Given the description of an element on the screen output the (x, y) to click on. 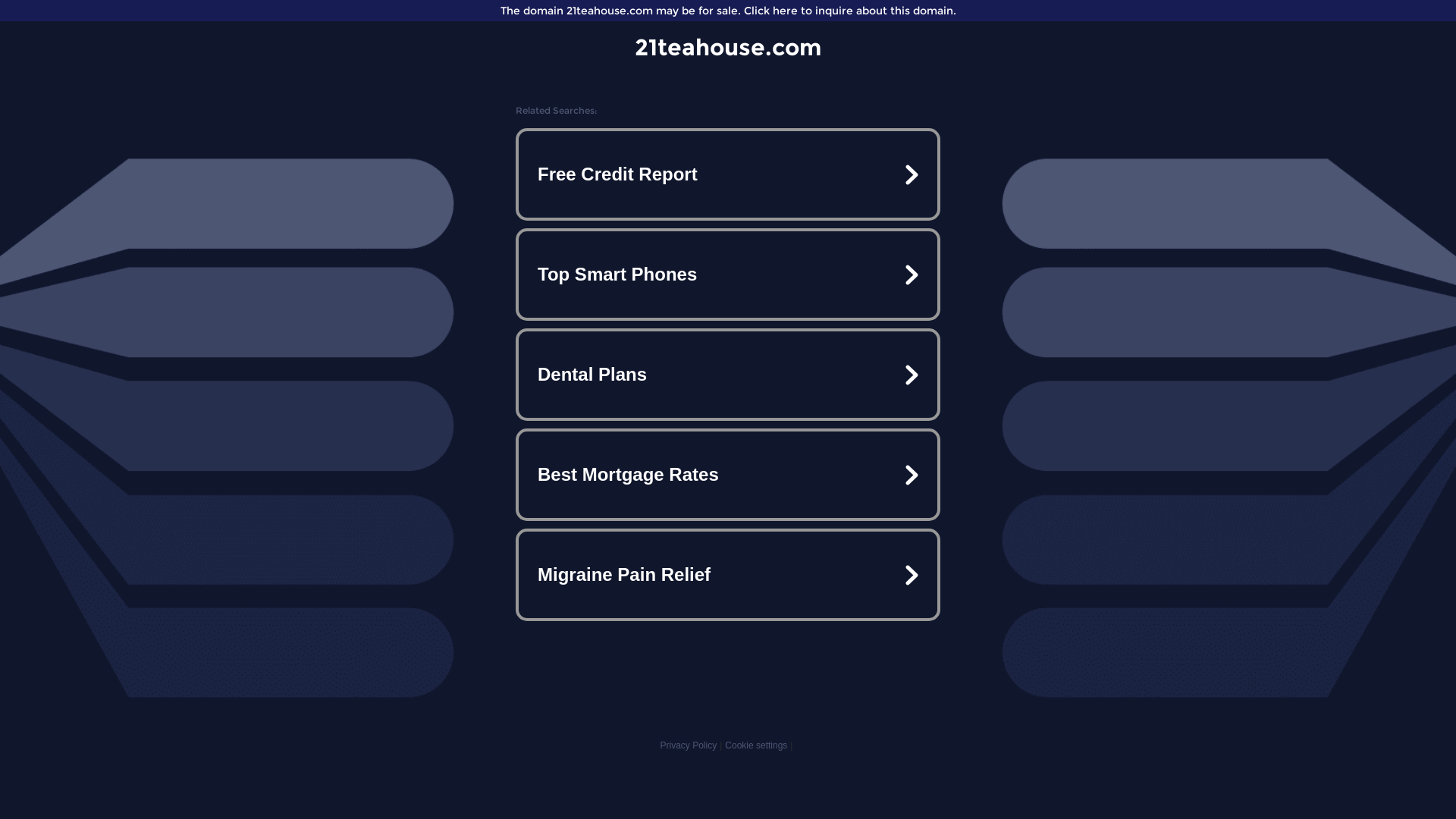
21teahouse.com Element type: text (727, 47)
Dental Plans Element type: text (727, 374)
Privacy Policy Element type: text (687, 745)
Cookie settings Element type: text (755, 745)
Top Smart Phones Element type: text (727, 274)
Best Mortgage Rates Element type: text (727, 474)
Free Credit Report Element type: text (727, 174)
Migraine Pain Relief Element type: text (727, 574)
